Given the description of an element on the screen output the (x, y) to click on. 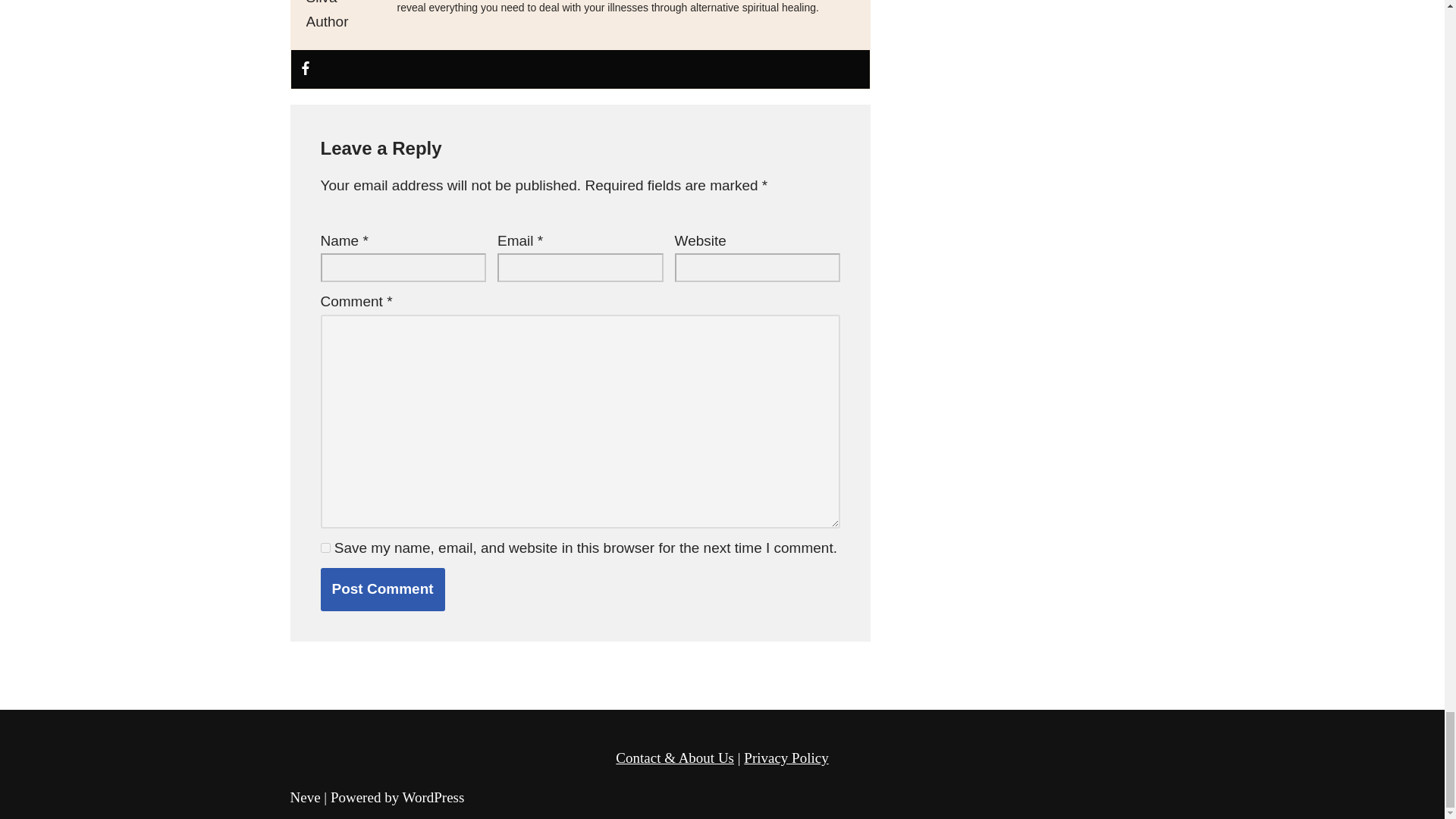
yes (325, 547)
Post Comment (382, 589)
Post Comment (382, 589)
